Given the description of an element on the screen output the (x, y) to click on. 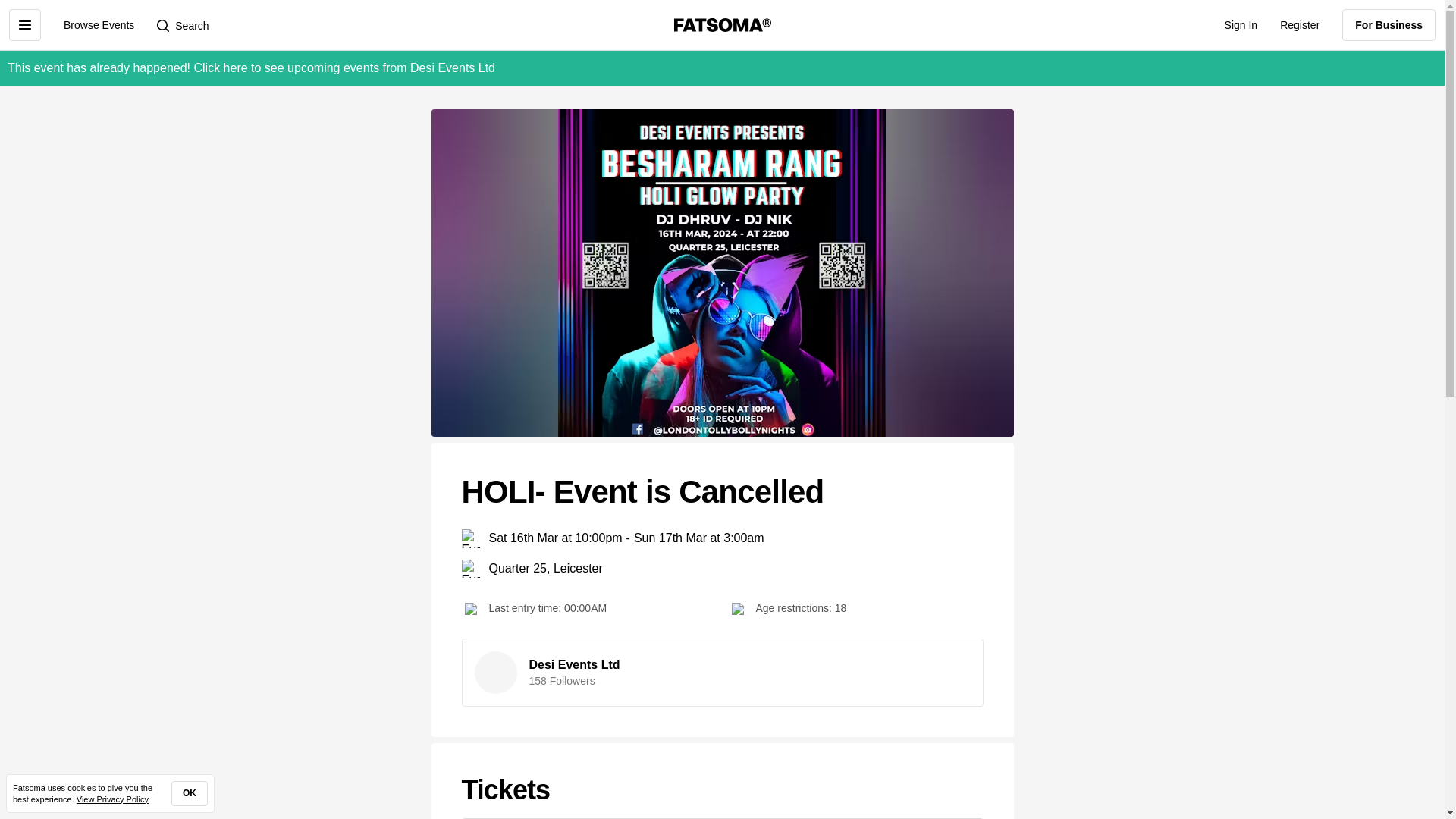
Register (1299, 24)
Desi Events Ltd (574, 664)
For Business (1388, 24)
OK (189, 793)
Browse Events (98, 24)
Sign In (1240, 24)
Search (182, 24)
View Privacy Policy (112, 798)
